Given the description of an element on the screen output the (x, y) to click on. 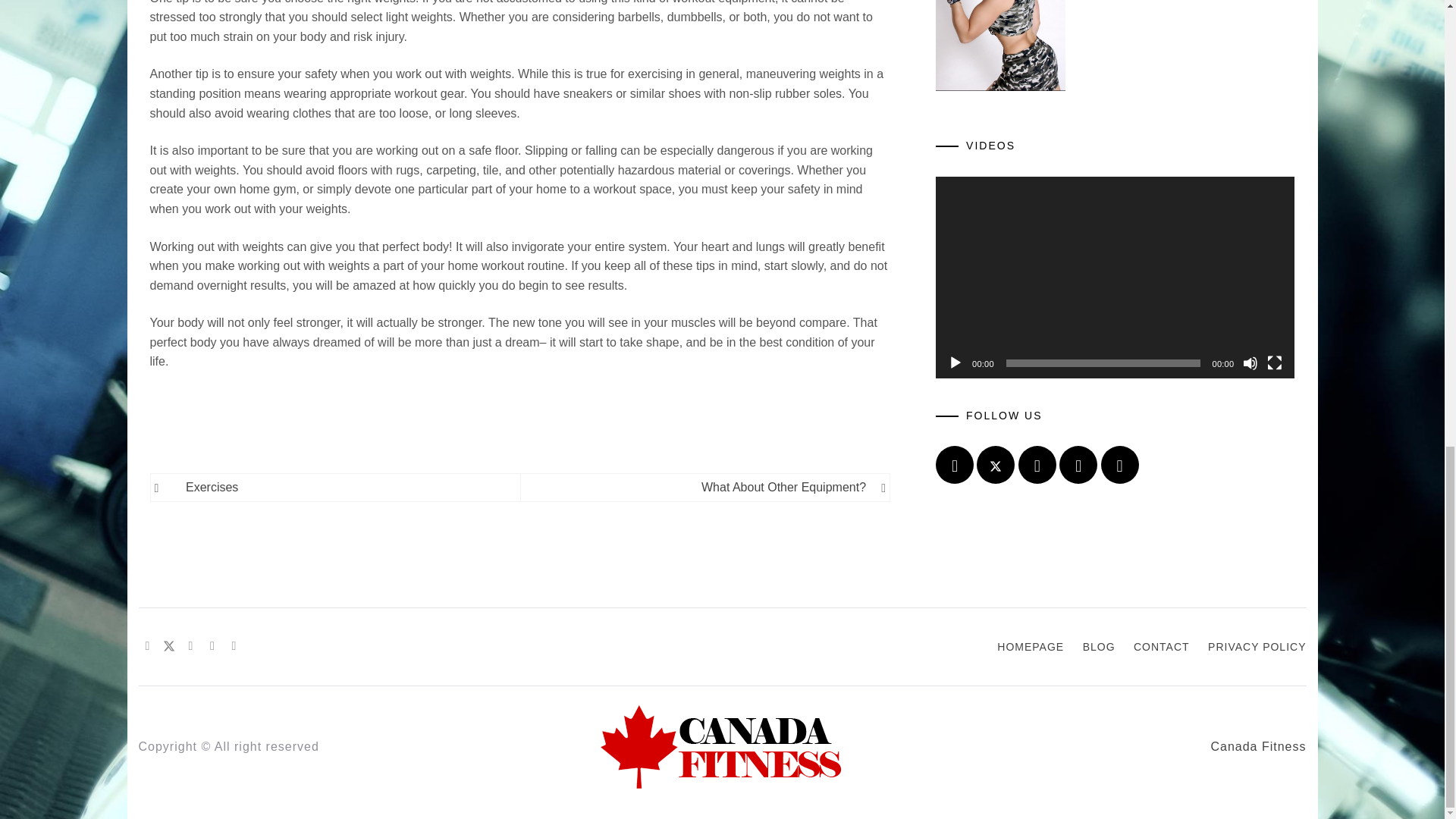
Fullscreen (1274, 363)
Play (954, 363)
Exercises (345, 487)
Mute (1250, 363)
What About Other Equipment? (700, 487)
